Given the description of an element on the screen output the (x, y) to click on. 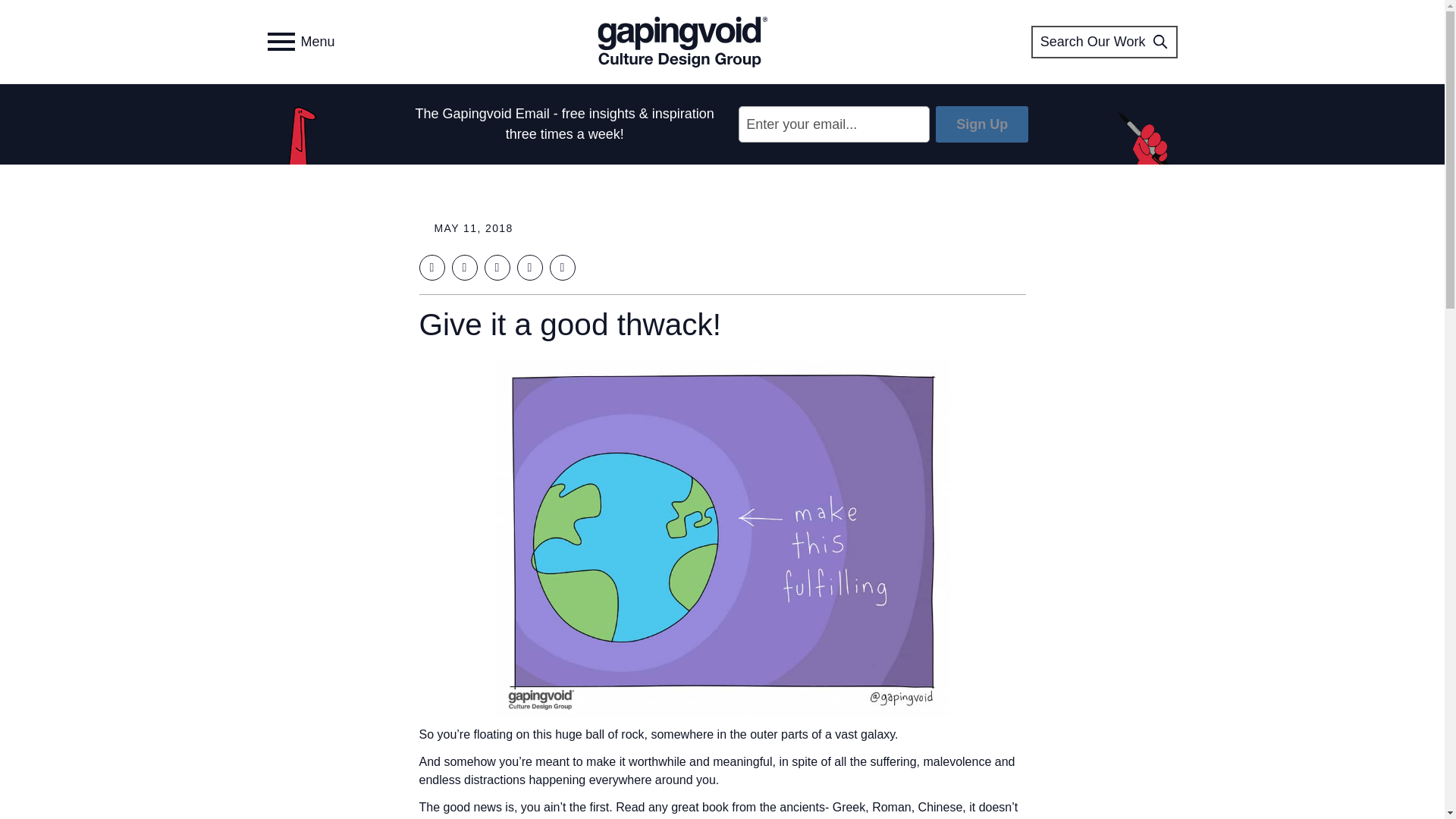
Submit this to Pinterest (529, 267)
Gapingvoid (682, 41)
Email this  (561, 267)
Sign Up (981, 124)
Tweet this ! (464, 267)
Enter your email... (834, 124)
Sign Up (981, 124)
Add this to LinkedIn (496, 267)
Share this on Facebook (431, 267)
